Given the description of an element on the screen output the (x, y) to click on. 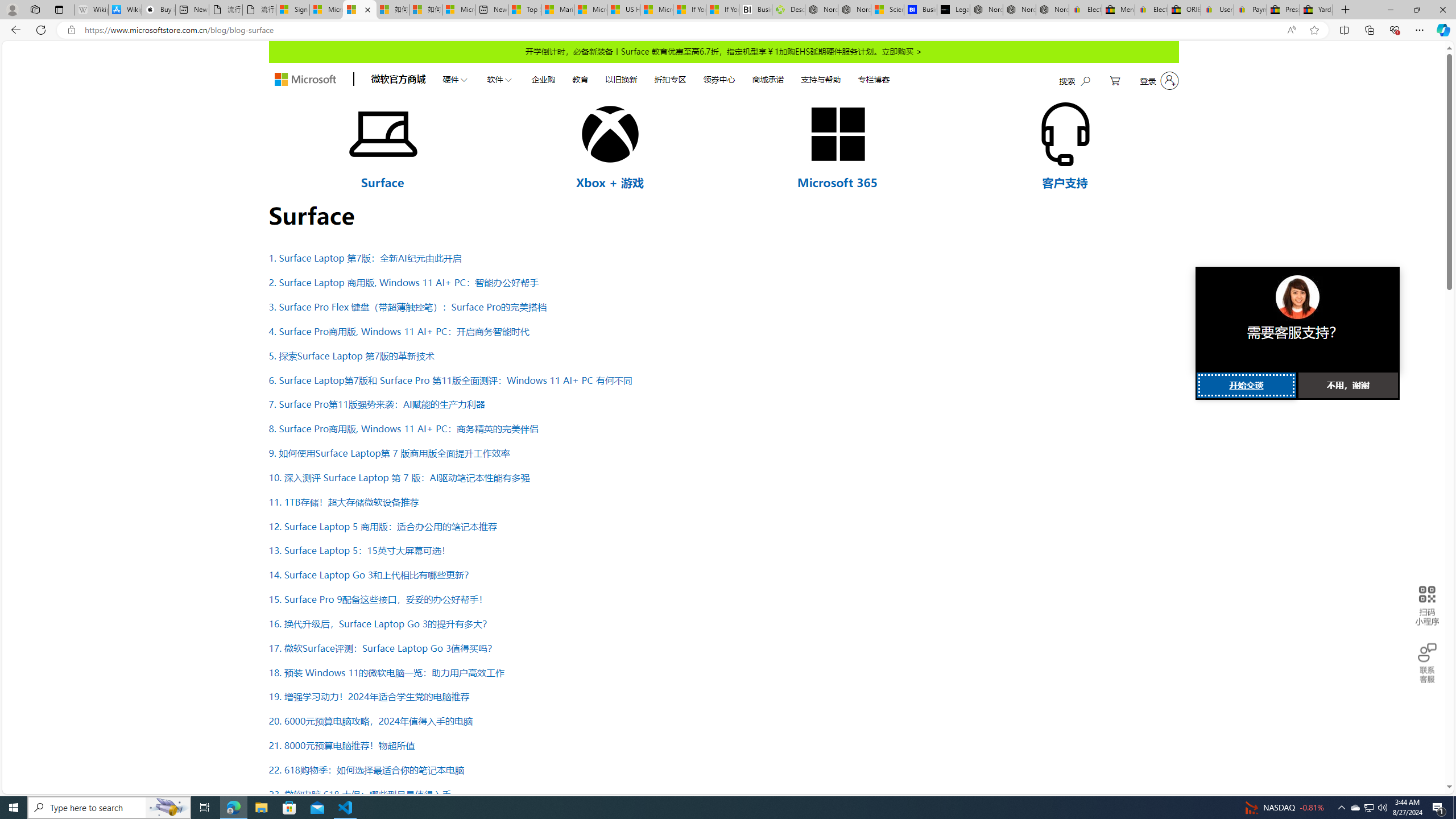
US Heat Deaths Soared To Record High Last Year (623, 9)
